Given the description of an element on the screen output the (x, y) to click on. 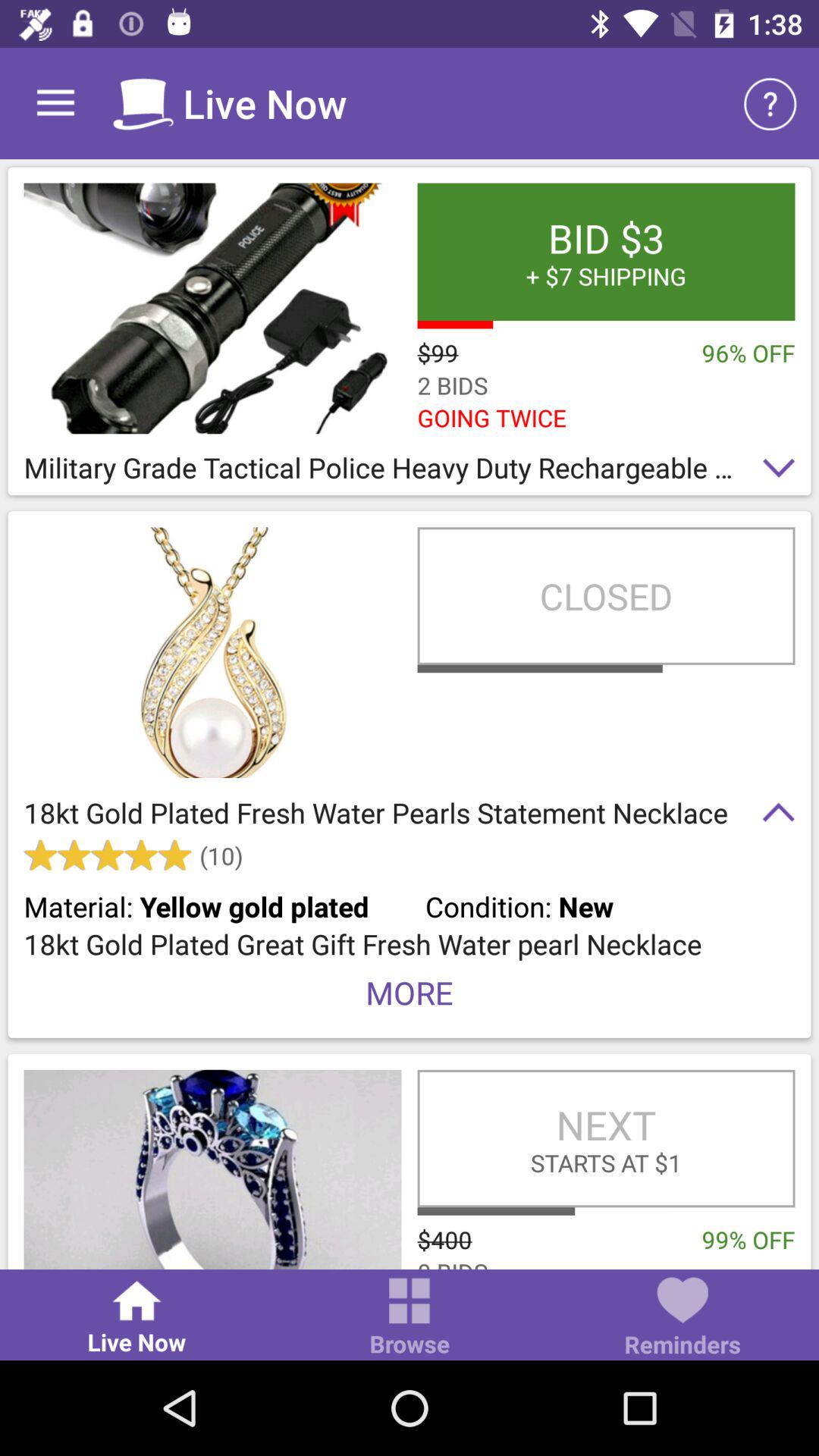
choose the item next to live now icon (409, 1318)
